Given the description of an element on the screen output the (x, y) to click on. 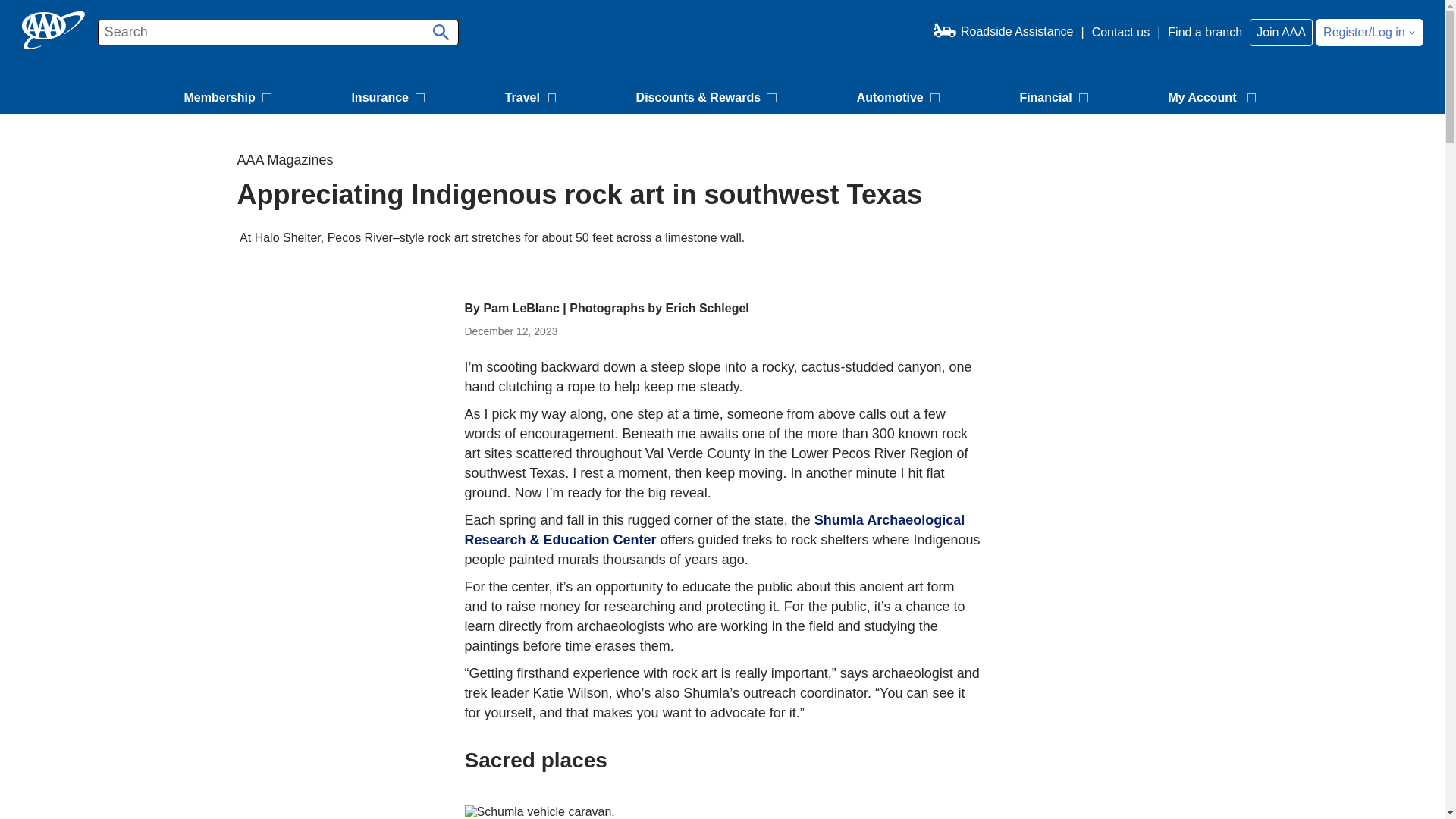
Travel (532, 98)
Contact us (1120, 31)
Join AAA (1281, 31)
Insurance (389, 98)
My Account (1214, 98)
Find a branch (1204, 31)
Automobile Club logo (52, 30)
Financial (1055, 98)
Automotive (900, 98)
Membership (229, 98)
Search (438, 26)
Type search word (277, 32)
Roadside Assistance (1002, 31)
